Given the description of an element on the screen output the (x, y) to click on. 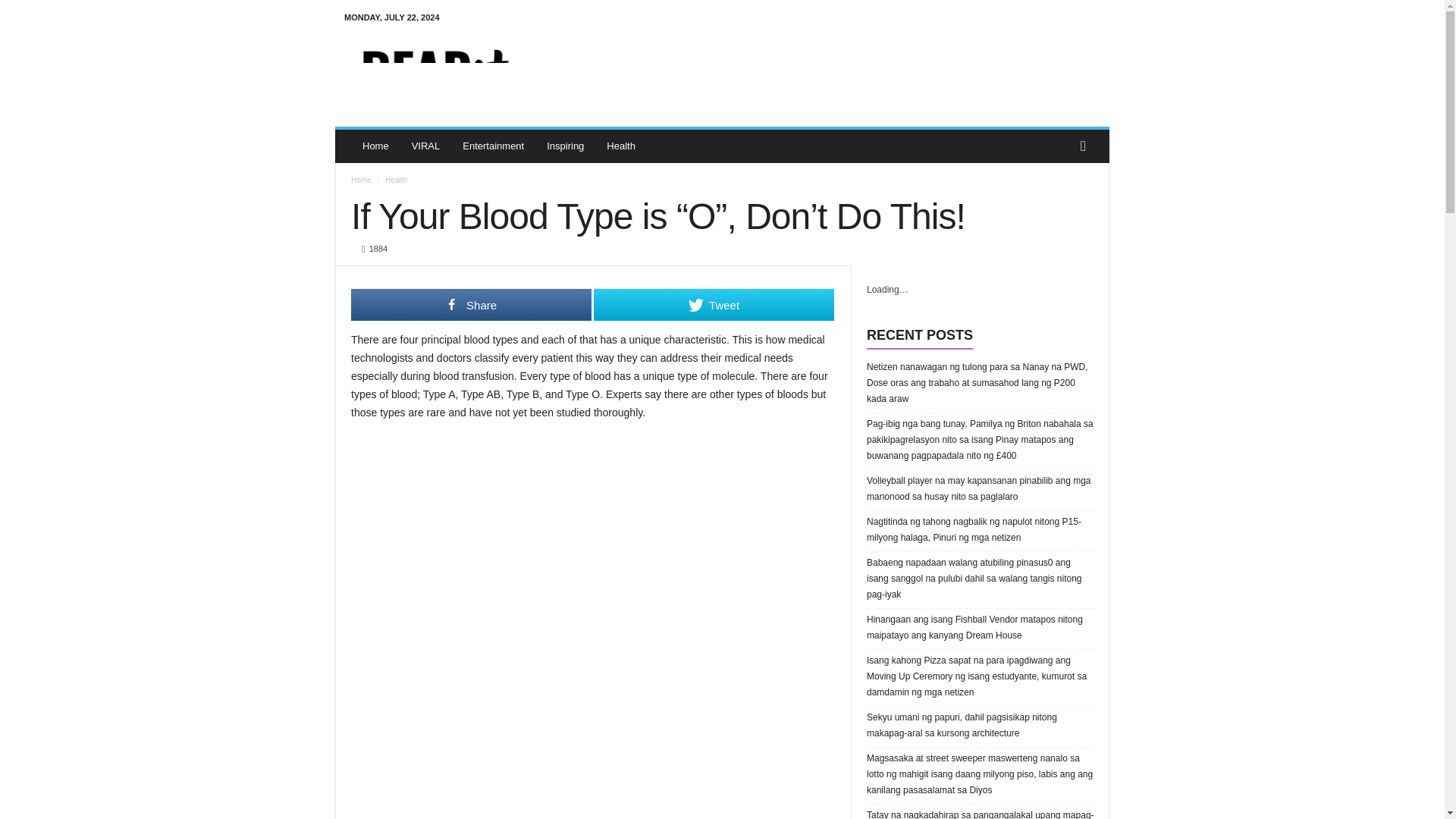
Inspiring (565, 145)
Share (470, 305)
READit (437, 69)
Health (620, 145)
VIRAL (425, 145)
Entertainment (493, 145)
Tweet (714, 305)
Home (360, 180)
Home (375, 145)
